Given the description of an element on the screen output the (x, y) to click on. 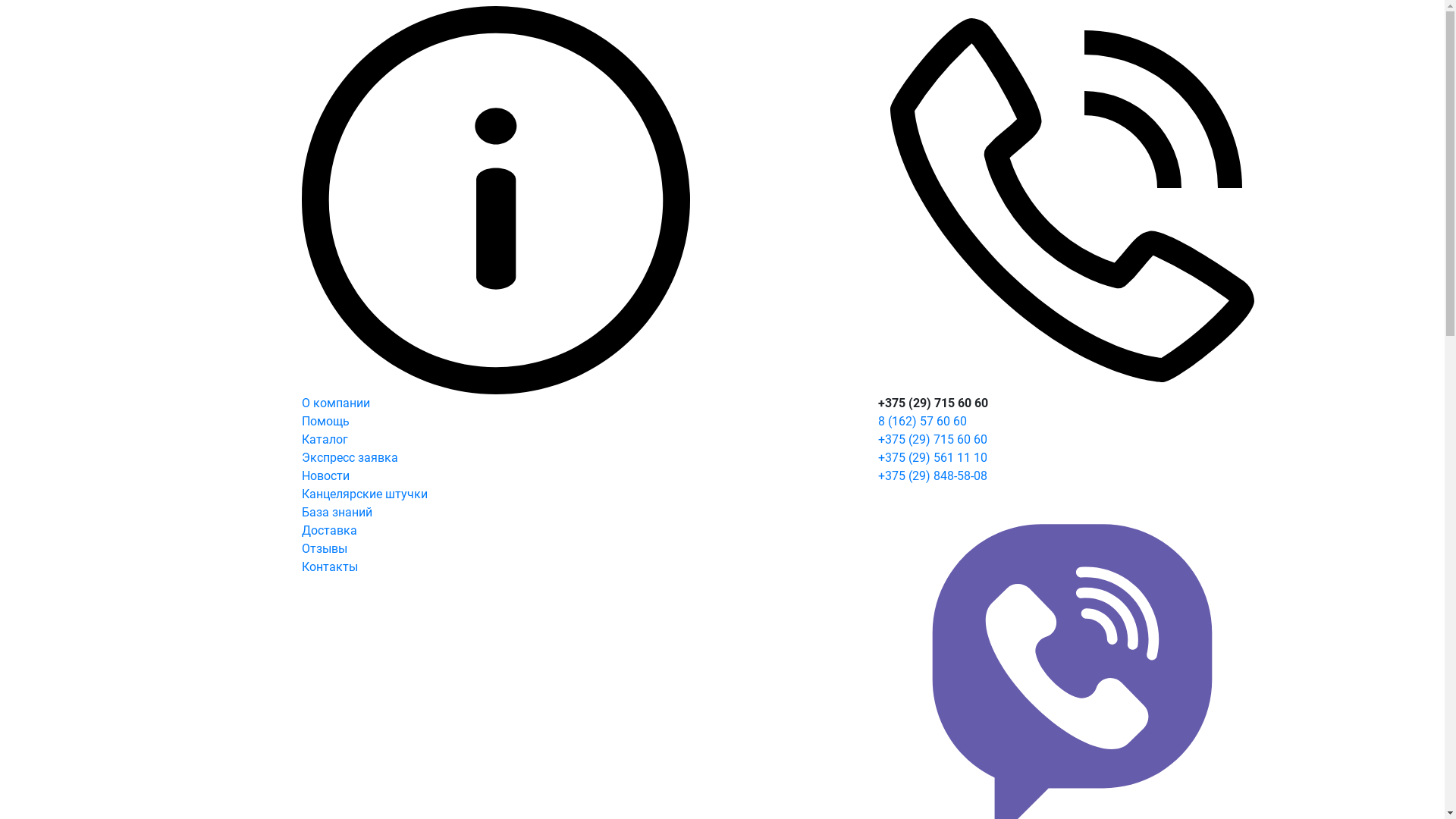
+375 (29) 561 11 10 Element type: text (932, 457)
8 (162) 57 60 60 Element type: text (922, 421)
+375 (29) 715 60 60 Element type: text (932, 439)
+375 (29) 848-58-08 Element type: text (932, 475)
